Given the description of an element on the screen output the (x, y) to click on. 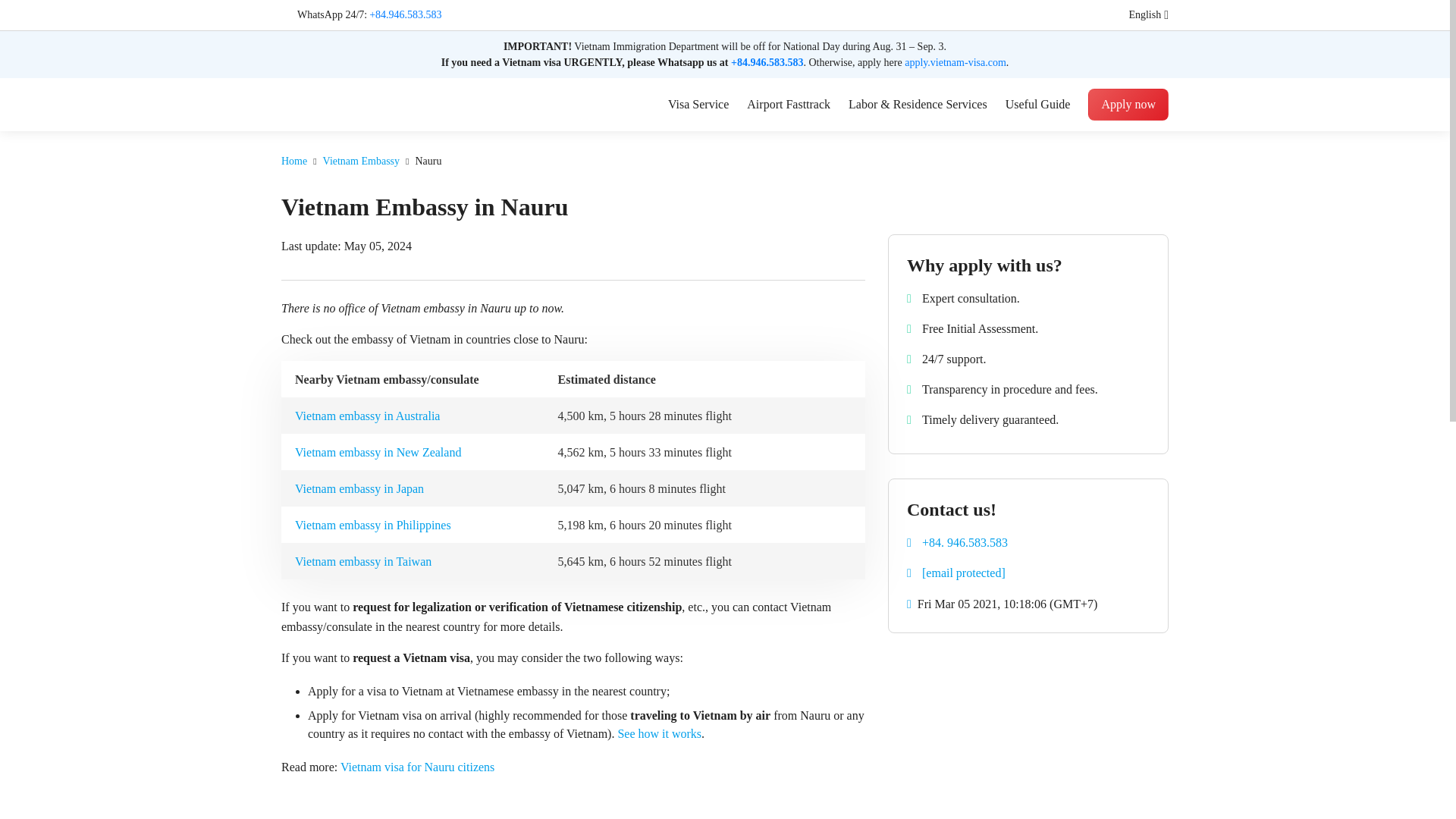
Visa Service (698, 104)
logo vietnam-visa.com (345, 103)
apply.vietnam-visa.com (955, 61)
Useful Guide (1038, 104)
Apply now (1128, 104)
Airport Fasttrack (787, 104)
Click to share this post on Twitter (857, 245)
twitter sharing button (857, 246)
